Given the description of an element on the screen output the (x, y) to click on. 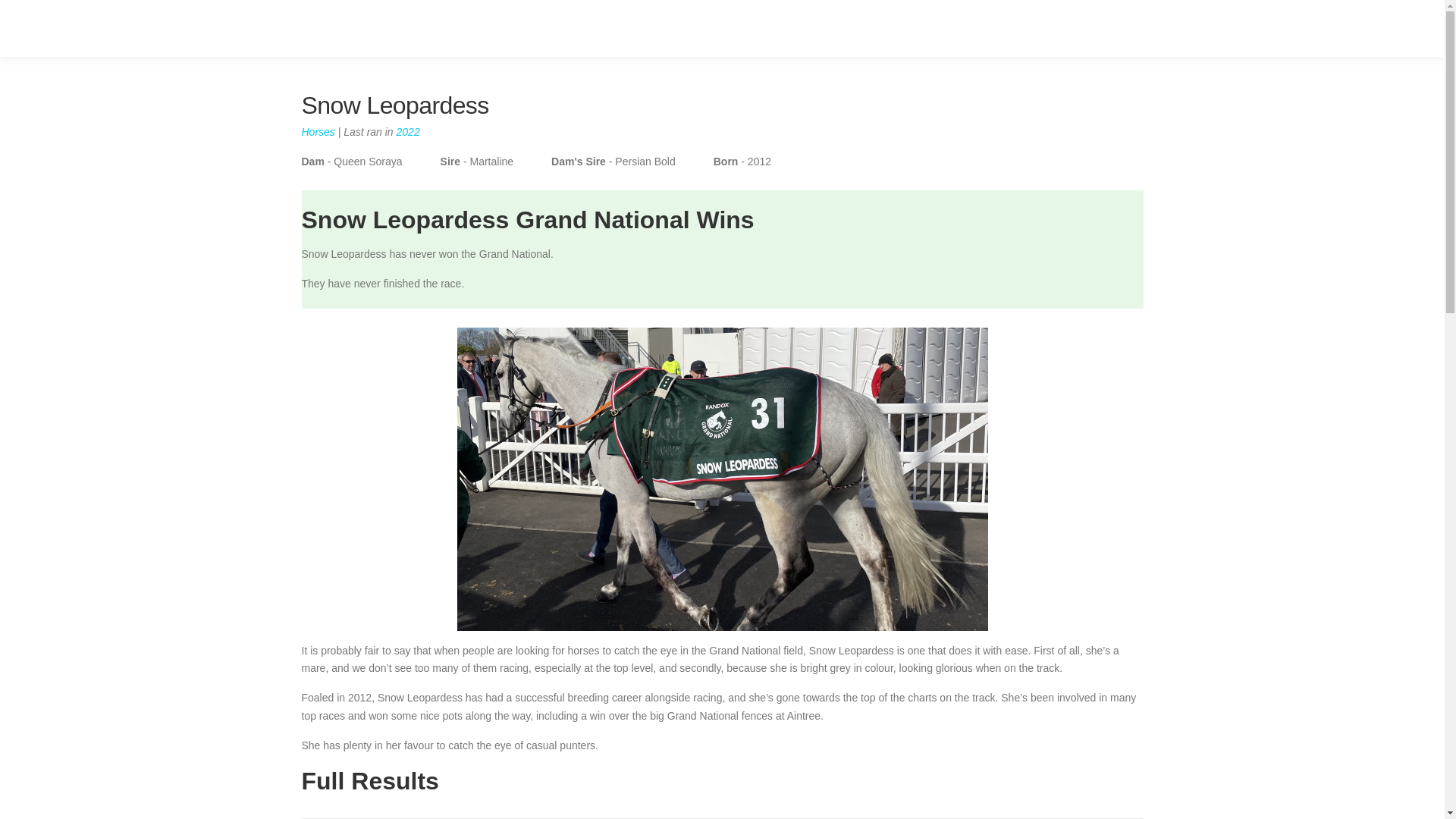
JOCKEYS (953, 28)
Horses (317, 132)
HORSES (878, 28)
ARTICLES (1108, 28)
TRAINERS (1033, 28)
2022 (408, 132)
RESULTS (804, 28)
